Given the description of an element on the screen output the (x, y) to click on. 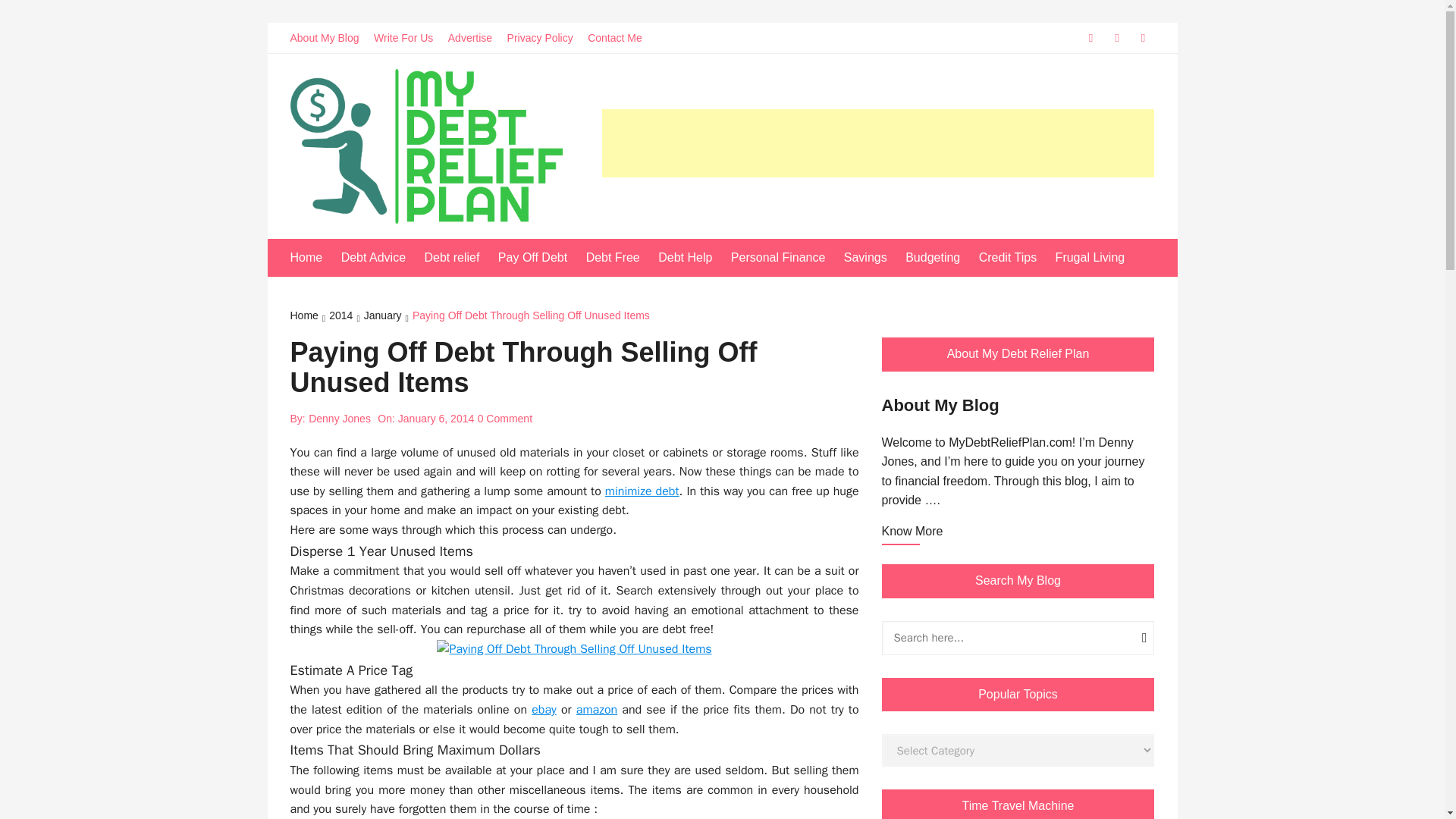
Home (313, 257)
Contact Me (620, 37)
Write For Us (409, 37)
Pay Off Debt (539, 257)
Credit Tips (1014, 257)
Savings (873, 257)
Debt Help (692, 257)
amazon (596, 709)
About My Blog (329, 37)
January 6, 2014 (435, 418)
January (388, 316)
Personal Finance (785, 257)
Denny Jones (339, 418)
Debt relief (459, 257)
